Given the description of an element on the screen output the (x, y) to click on. 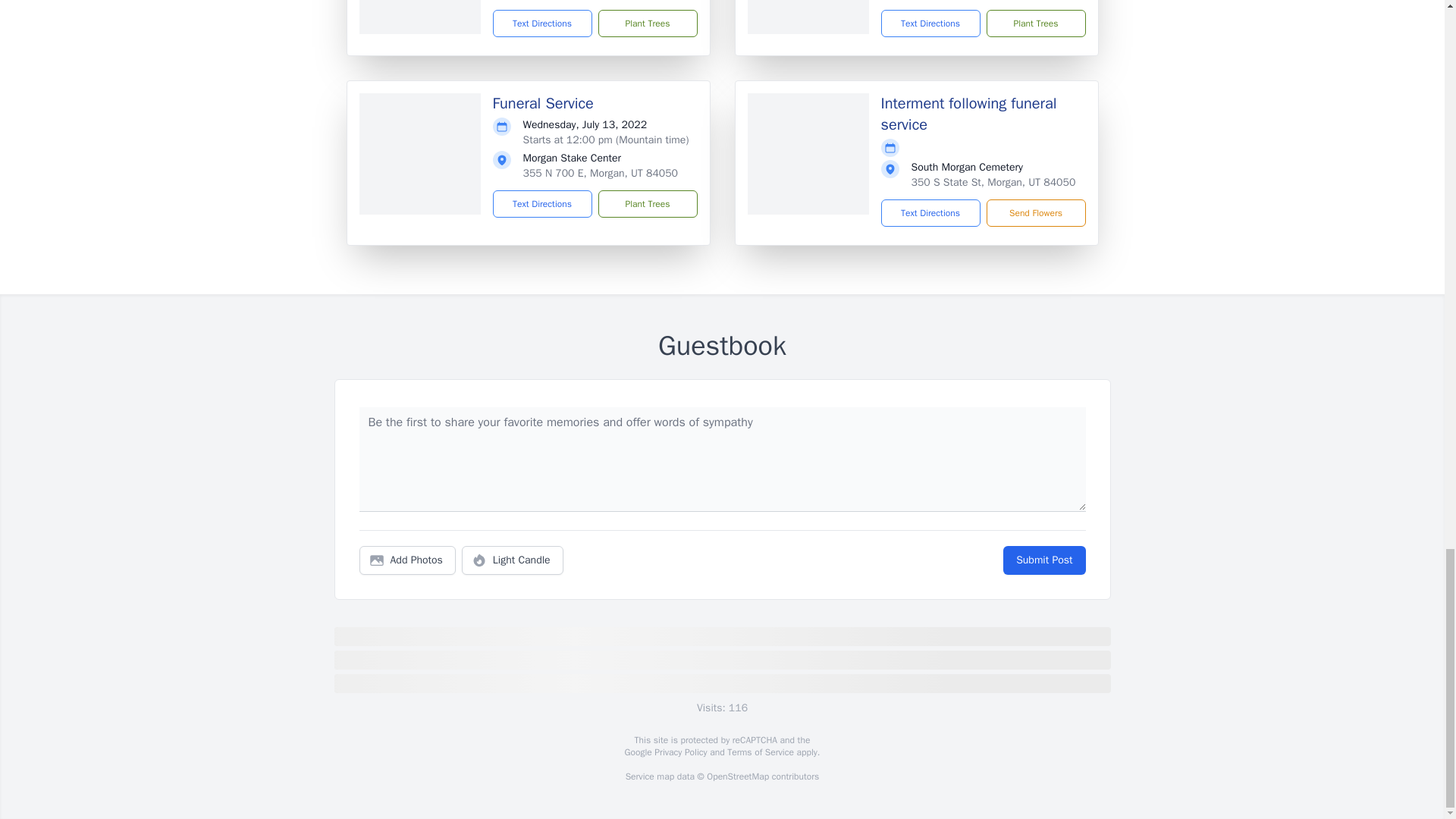
Plant Trees (646, 22)
Plant Trees (646, 203)
Text Directions (542, 203)
Send Flowers (1034, 212)
Text Directions (929, 212)
Text Directions (542, 22)
350 S State St, Morgan, UT 84050 (993, 182)
355 N 700 E, Morgan, UT 84050 (600, 173)
Plant Trees (1034, 22)
Text Directions (929, 22)
